Given the description of an element on the screen output the (x, y) to click on. 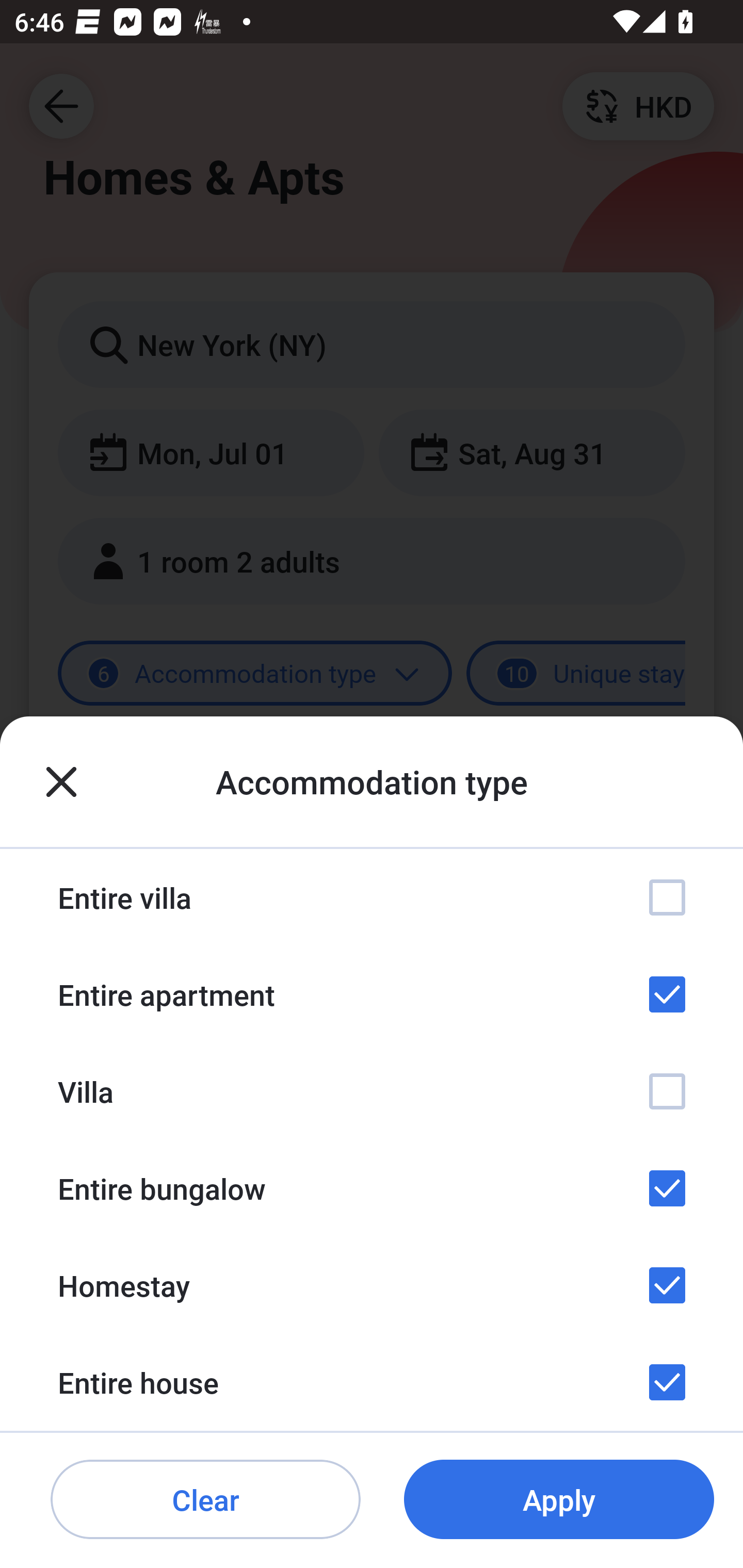
Entire villa (371, 897)
Entire apartment (371, 994)
Villa (371, 1091)
Entire bungalow (371, 1188)
Homestay (371, 1284)
Entire house (371, 1382)
Clear (205, 1499)
Apply (559, 1499)
